Given the description of an element on the screen output the (x, y) to click on. 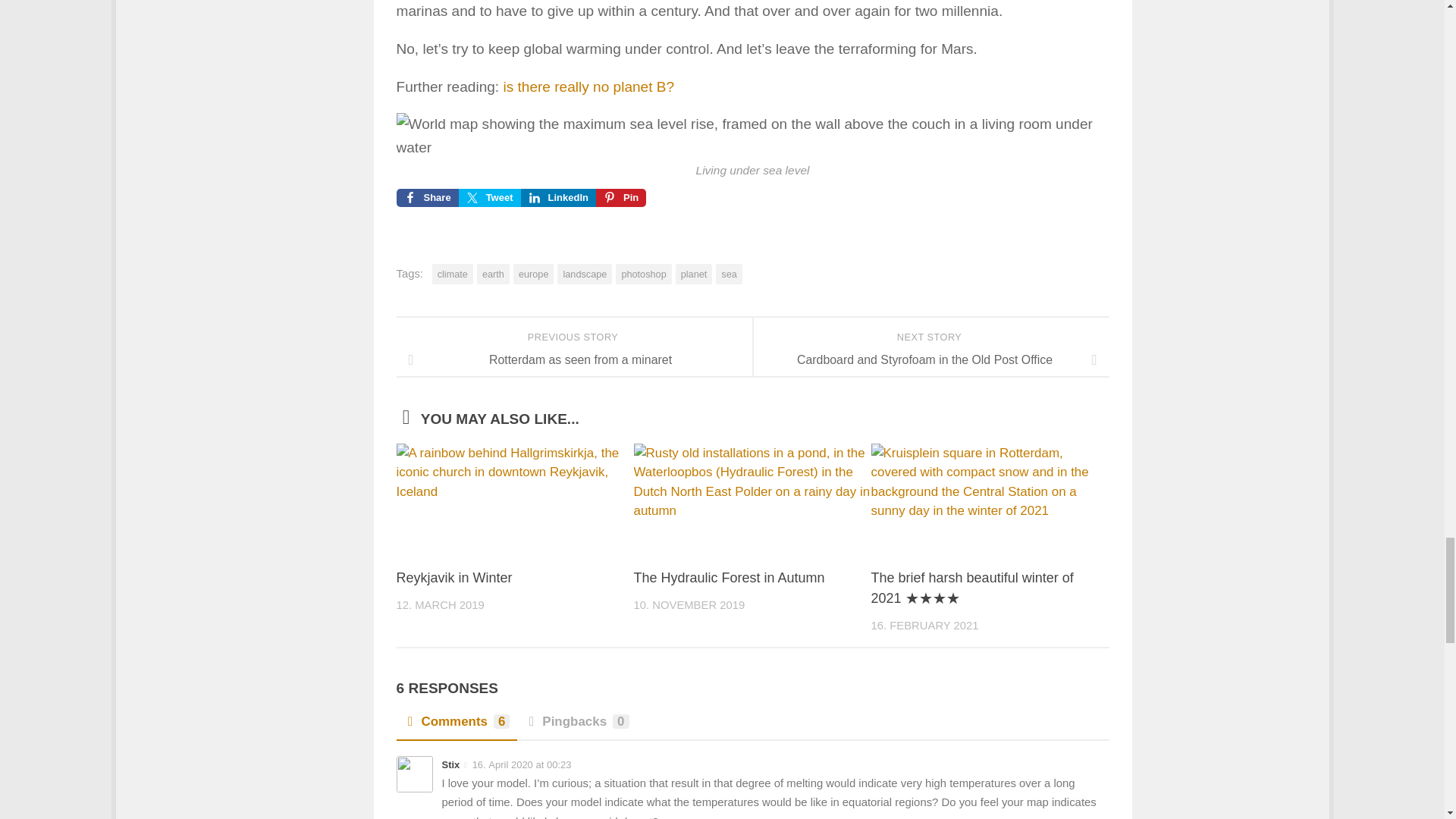
landscape (584, 273)
planet (694, 273)
sea (728, 273)
Share on Facebook (427, 198)
Share on LinkedIn (558, 198)
Tweet (489, 198)
europe (533, 273)
earth (493, 273)
climate (452, 273)
is there really no planet B? (588, 86)
